Given the description of an element on the screen output the (x, y) to click on. 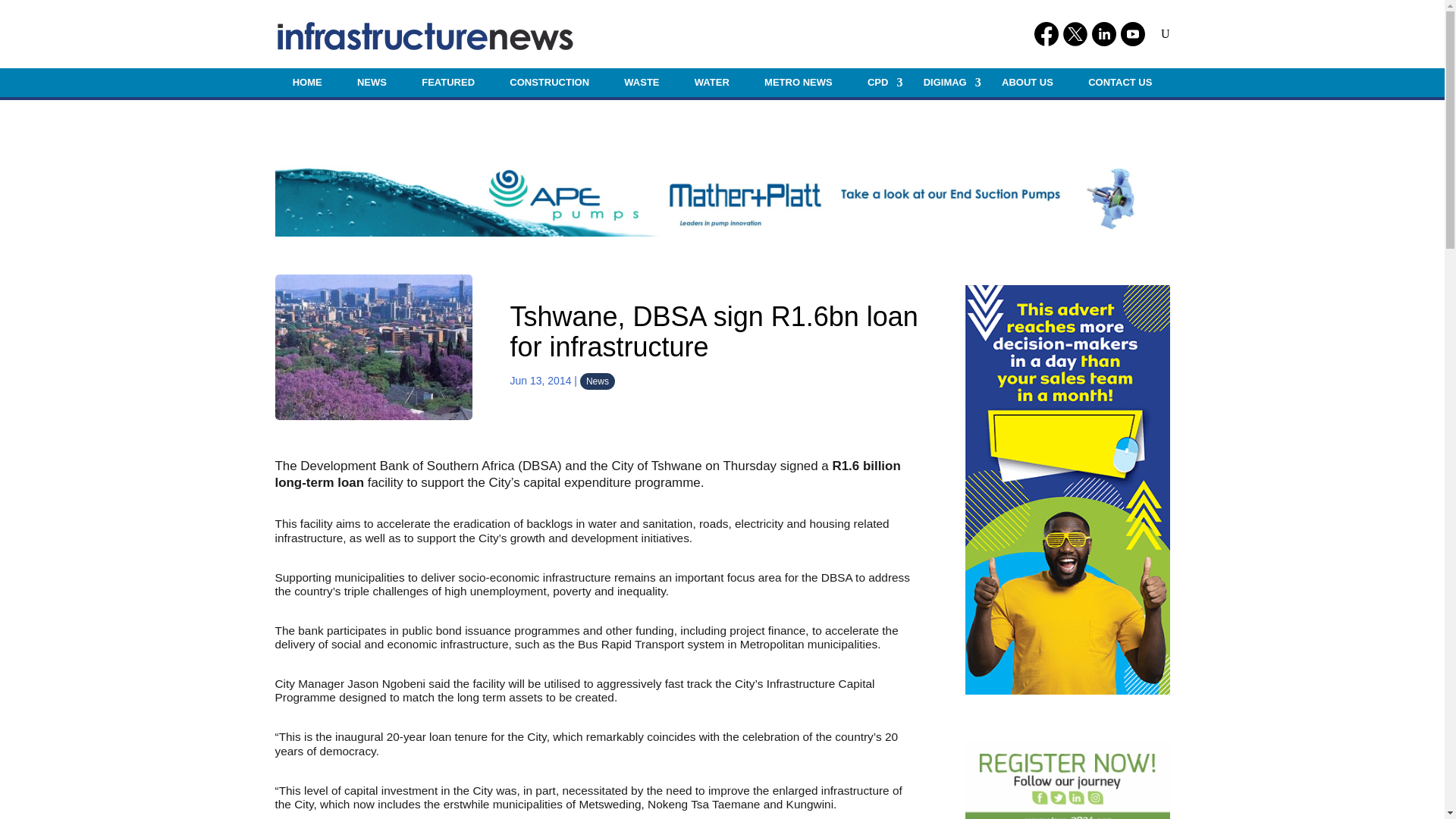
NEWS (371, 82)
DIGIMAG (944, 82)
METRO NEWS (798, 82)
FEATURED (448, 82)
WASTE (642, 82)
ABOUT US (1027, 82)
WATER (711, 82)
CONTACT US (1120, 82)
CPD (877, 82)
Linkedin (1104, 33)
Youtube (1132, 33)
HOME (307, 82)
News (596, 381)
CONSTRUCTION (549, 82)
Twitter (1074, 33)
